Given the description of an element on the screen output the (x, y) to click on. 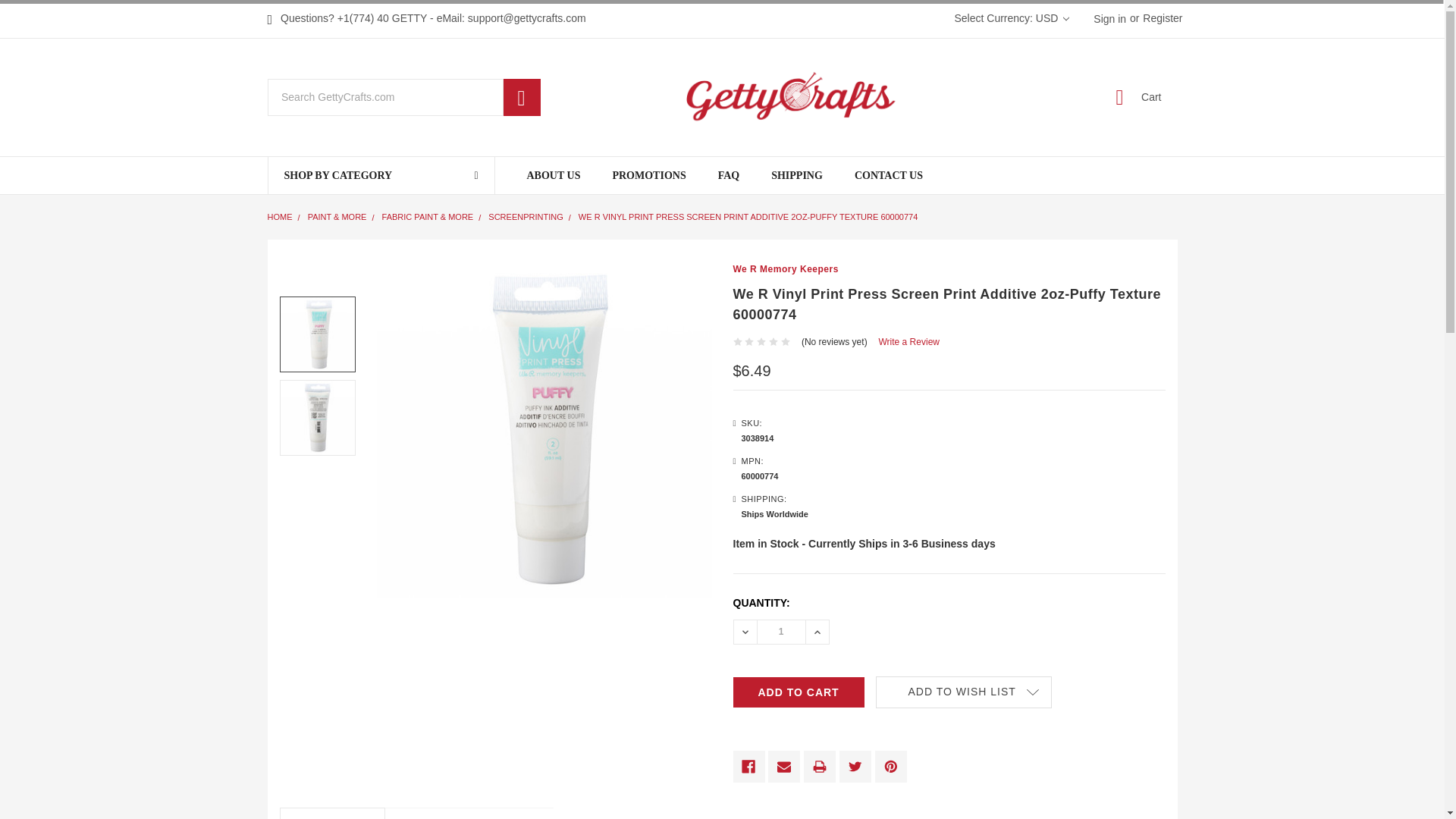
Cart (1130, 97)
1 (781, 631)
Register (1158, 18)
Add to Cart (797, 692)
GettyCrafts (722, 97)
Select Currency: USD (1008, 18)
SHOP BY CATEGORY (381, 175)
Sign in (1109, 18)
SEARCH (521, 97)
